Given the description of an element on the screen output the (x, y) to click on. 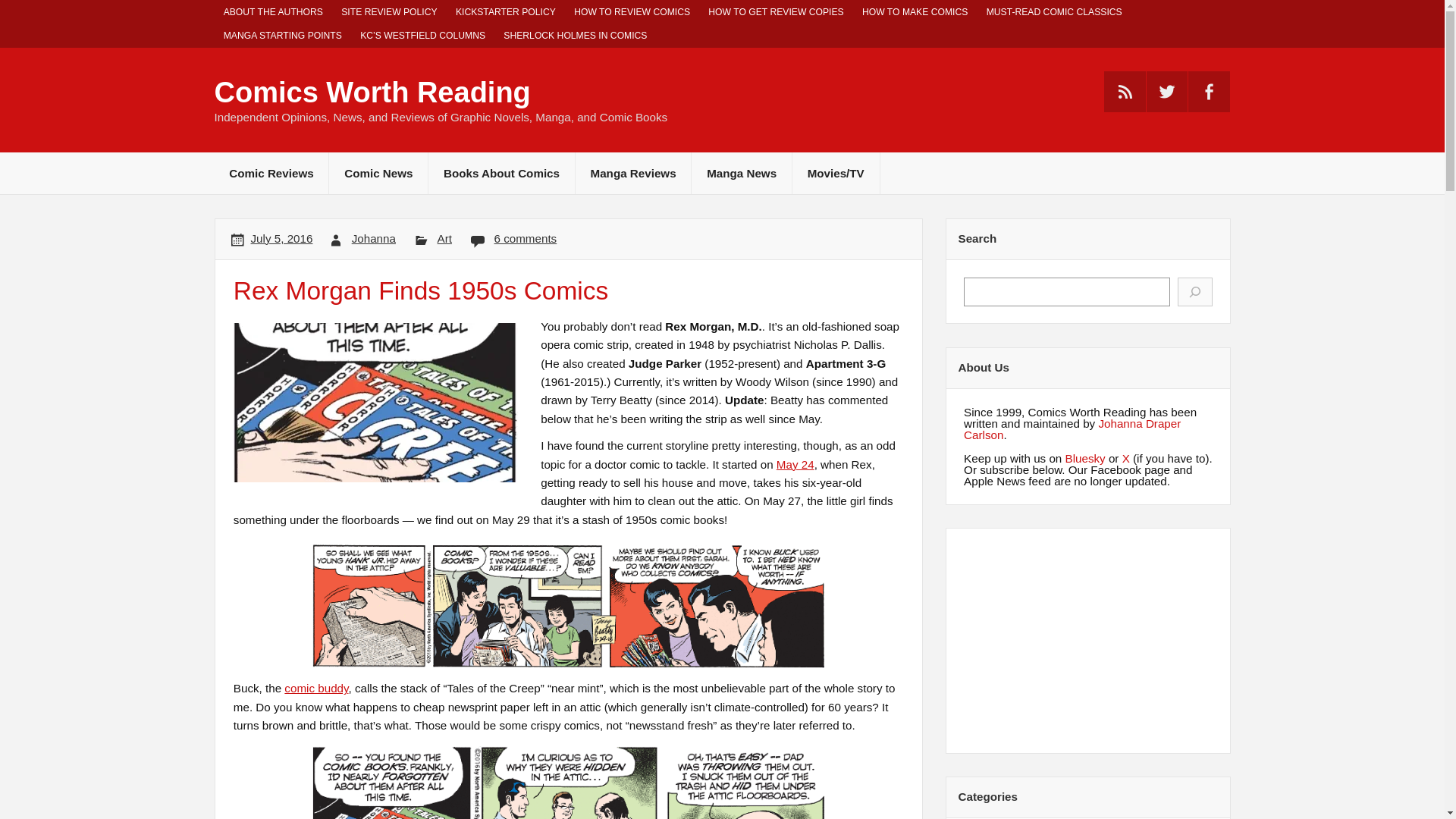
HOW TO GET REVIEW COPIES (775, 12)
4:40 pm (281, 237)
SITE REVIEW POLICY (388, 12)
MANGA STARTING POINTS (282, 36)
Comic Reviews (271, 173)
HOW TO REVIEW COMICS (631, 12)
SHERLOCK HOLMES IN COMICS (575, 36)
Comics Worth Reading (371, 92)
KICKSTARTER POLICY (505, 12)
Art (444, 237)
